Given the description of an element on the screen output the (x, y) to click on. 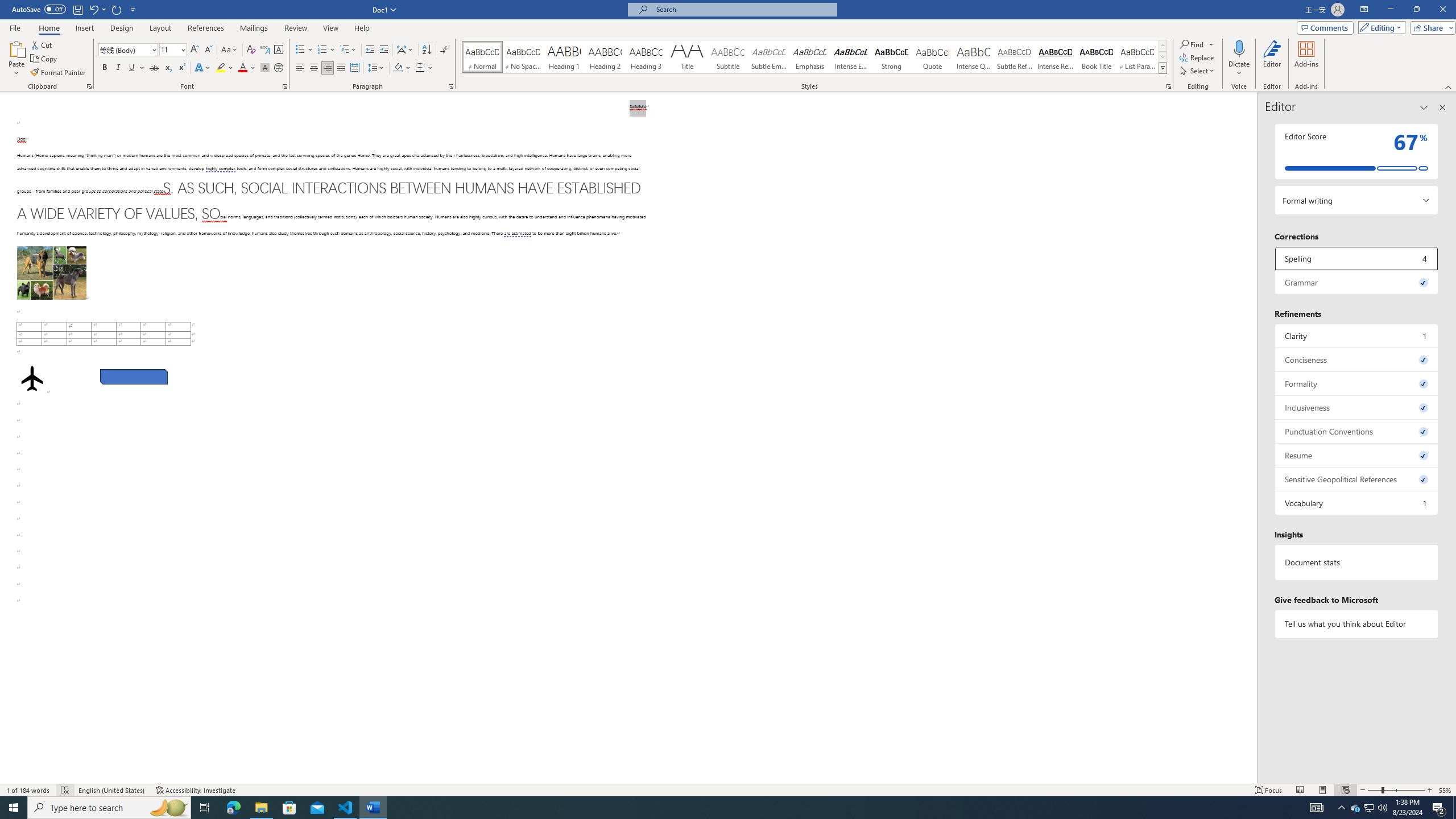
Formality, 0 issues. Press space or enter to review items. (1356, 383)
Word Count 1 of 184 words (28, 790)
Intense Emphasis (849, 56)
